Given the description of an element on the screen output the (x, y) to click on. 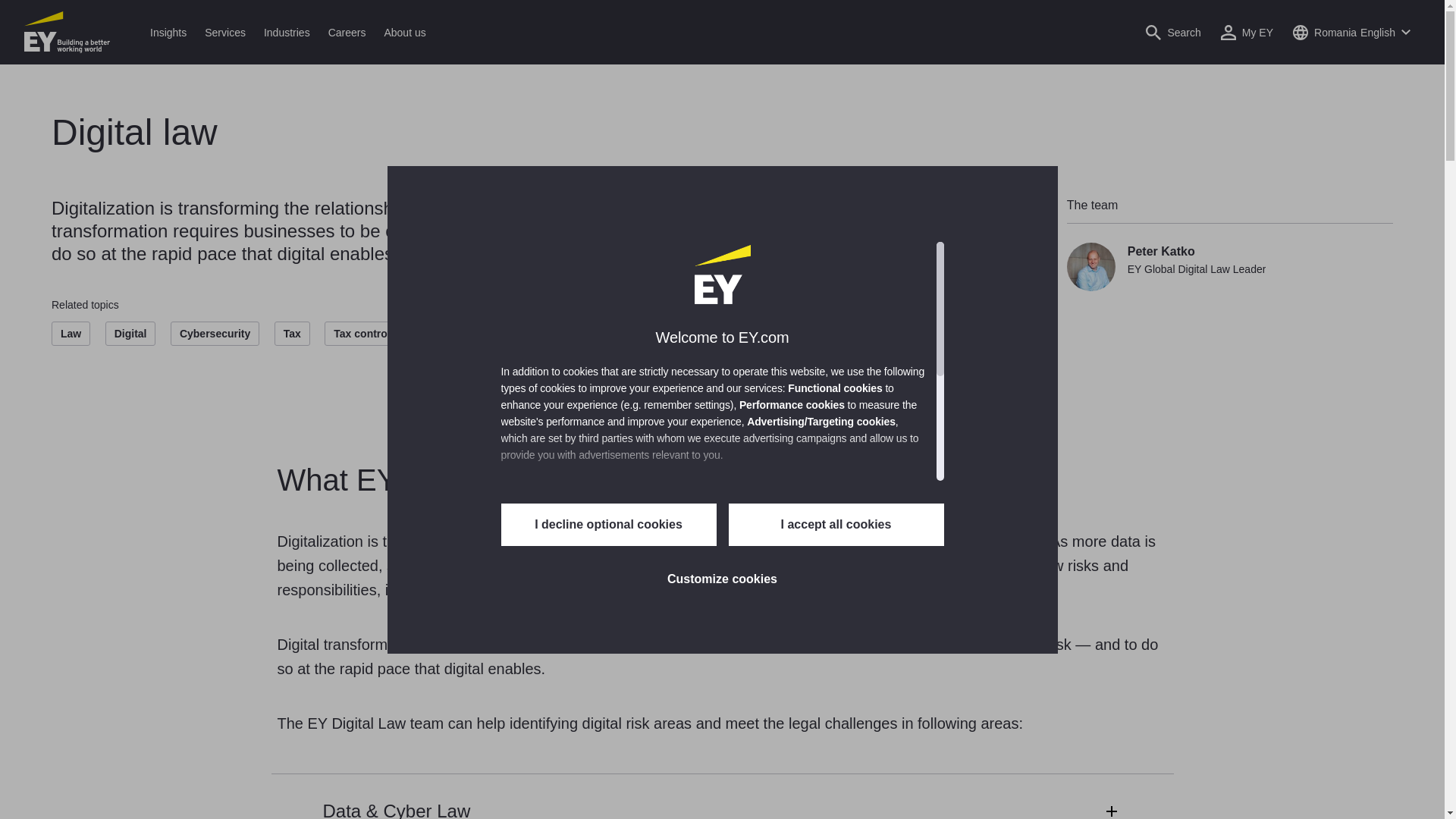
EY Homepage (67, 32)
My EY (1246, 32)
Open search (1172, 32)
Open country language switcher (1350, 32)
